Given the description of an element on the screen output the (x, y) to click on. 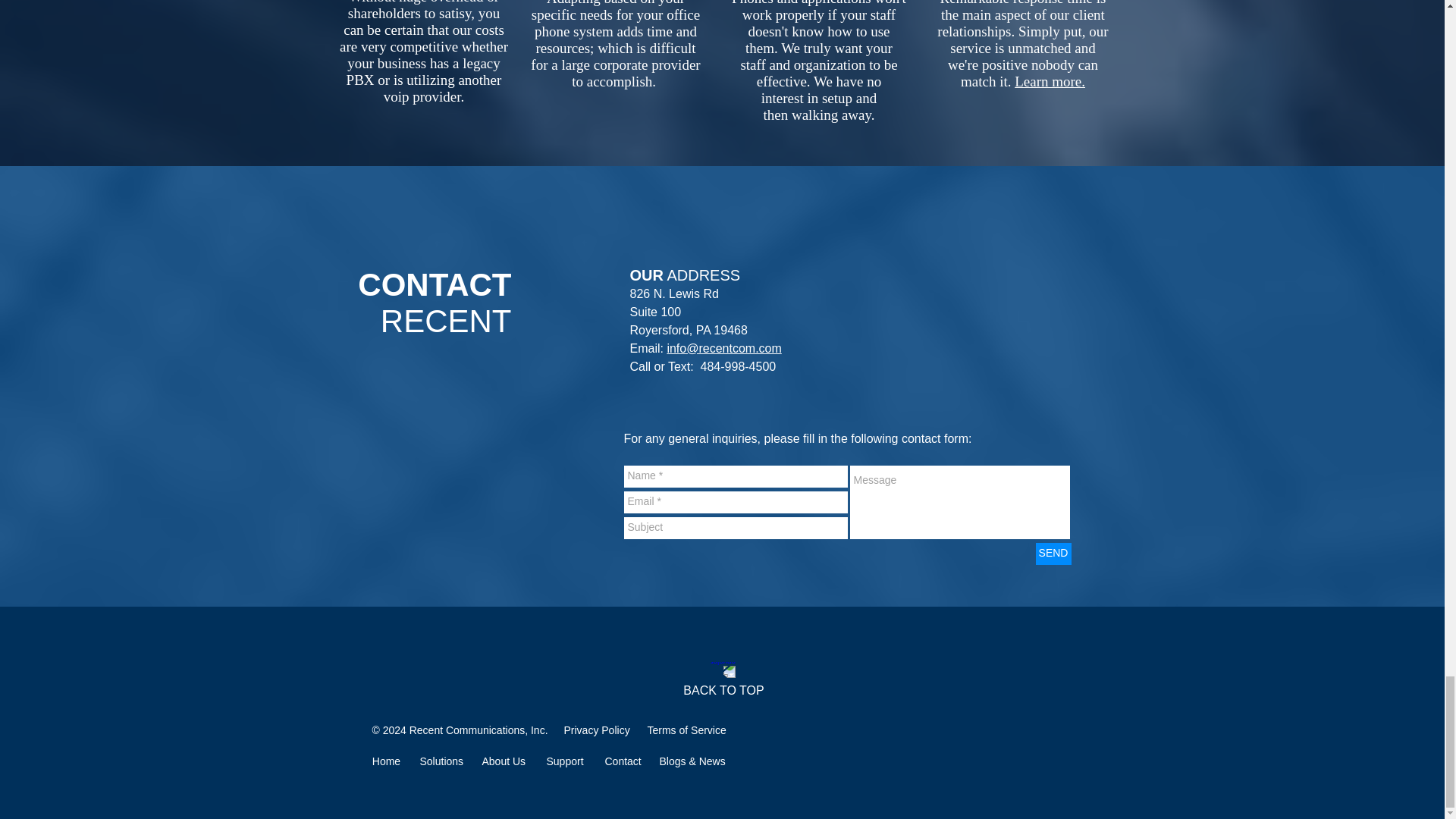
Privacy Policy (597, 729)
BACK TO TOP (722, 689)
Learn more. (1049, 81)
SEND (1053, 553)
Terms of Service (686, 729)
